Given the description of an element on the screen output the (x, y) to click on. 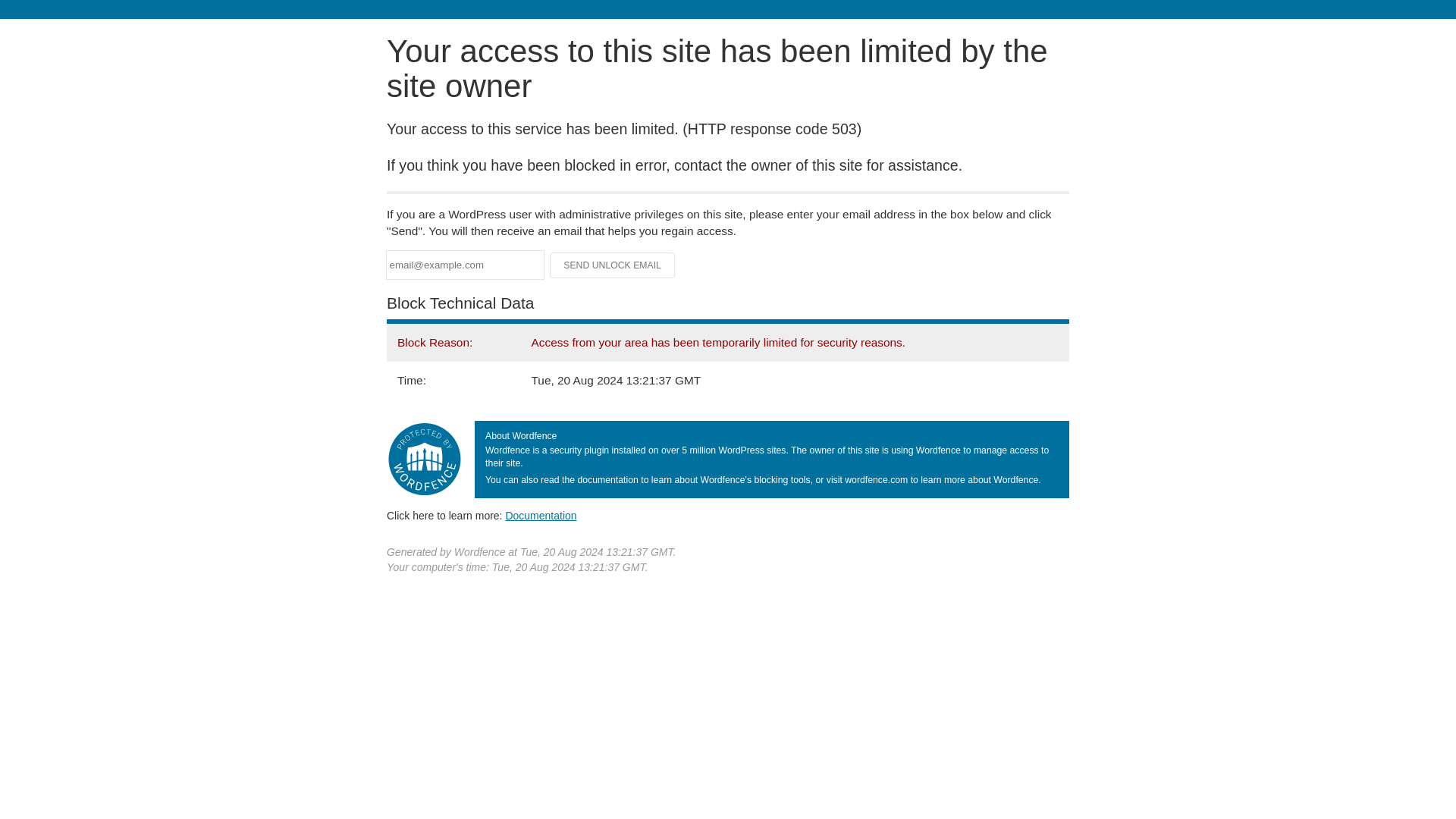
Send Unlock Email (612, 265)
Documentation (540, 515)
Send Unlock Email (612, 265)
